Given the description of an element on the screen output the (x, y) to click on. 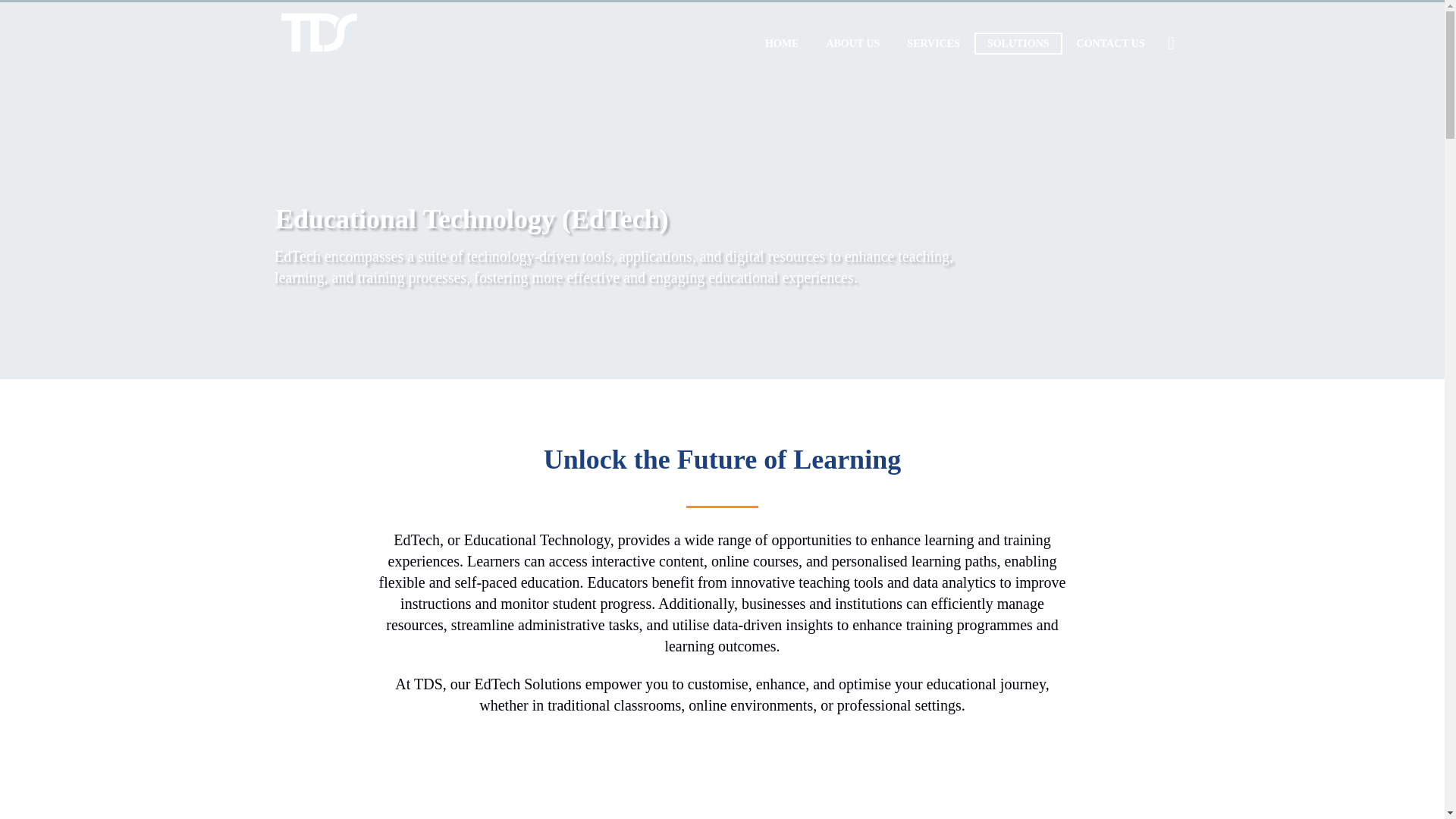
ABOUT US (852, 43)
SOLUTIONS (1018, 43)
HOME (781, 43)
SERVICES (933, 43)
